Given the description of an element on the screen output the (x, y) to click on. 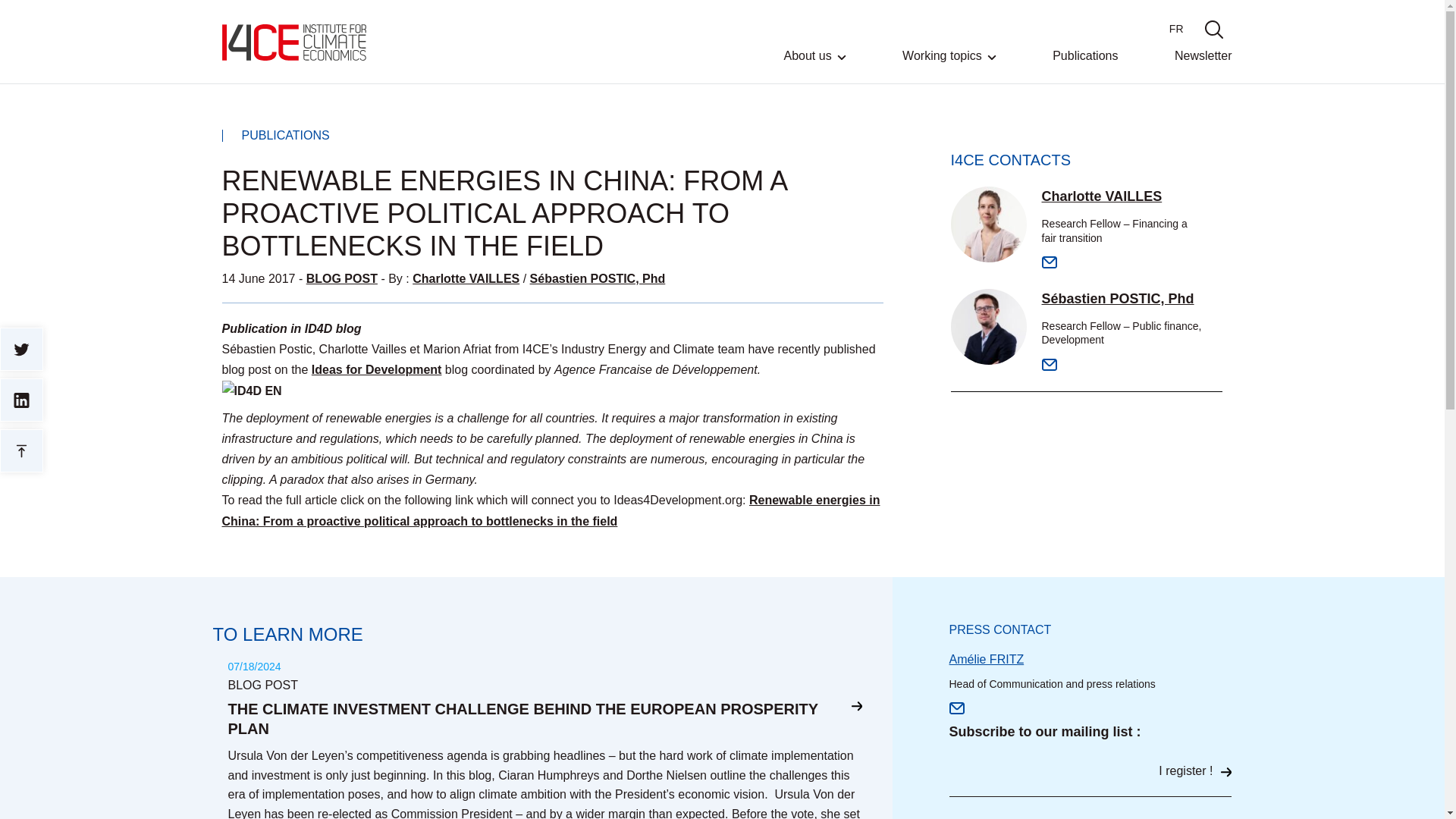
Newsletter (1202, 66)
Publications (1085, 66)
Working topics (948, 66)
search (1213, 29)
FR (1176, 28)
Ideas for Development (376, 369)
BLOG POST (341, 278)
About us (814, 66)
I4CE (293, 41)
Charlotte VAILLES (465, 278)
